Given the description of an element on the screen output the (x, y) to click on. 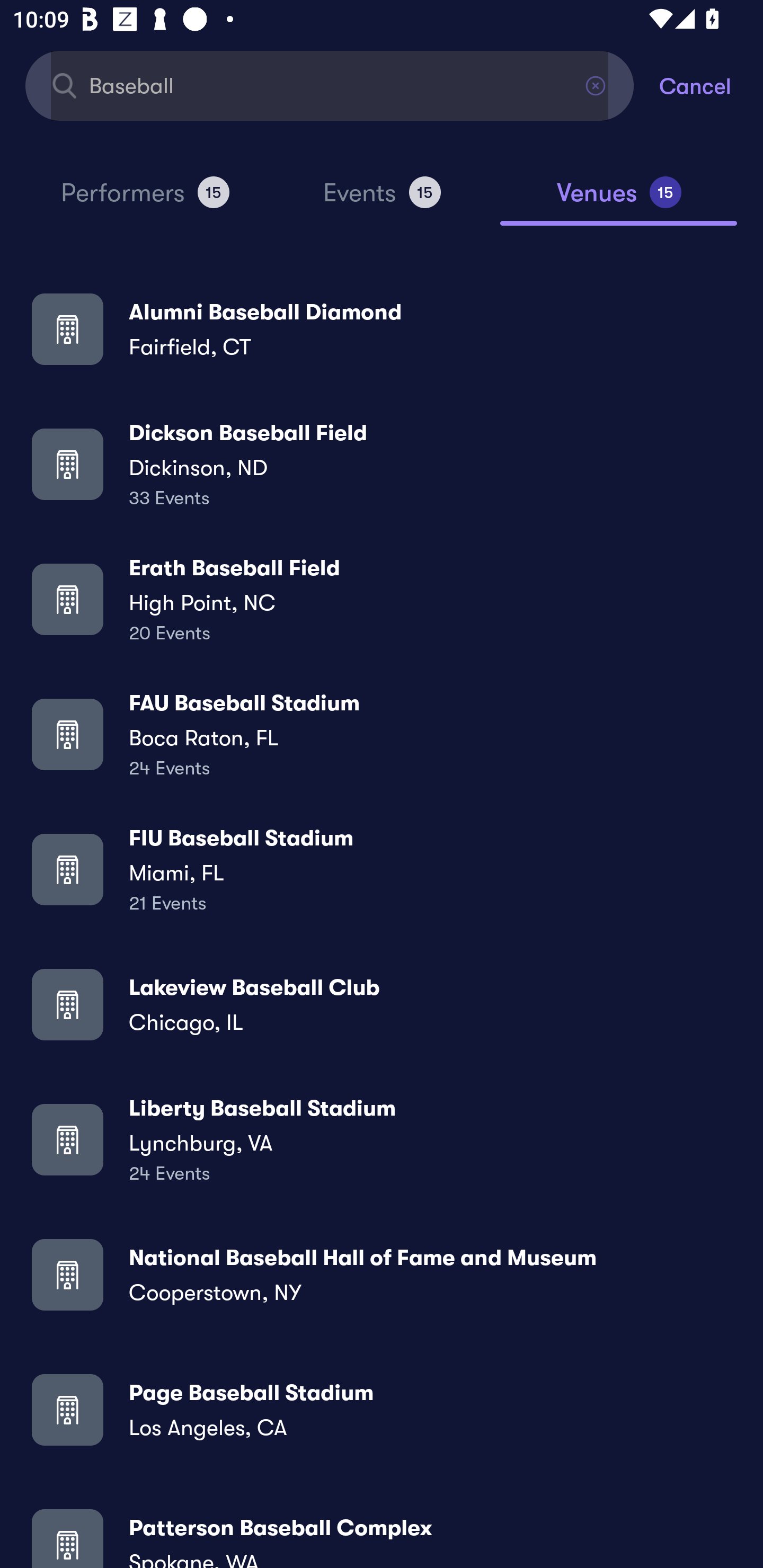
Baseball Find (329, 85)
Baseball Find (329, 85)
Cancel (711, 85)
Performers 15 (144, 200)
Events 15 (381, 200)
Venues 15 (618, 200)
Alumni Baseball Diamond Fairfield, CT (381, 328)
Dickson Baseball Field Dickinson, ND 33 Events (381, 464)
Erath Baseball Field High Point, NC 20 Events (381, 598)
FAU Baseball Stadium Boca Raton, FL 24 Events (381, 734)
FIU Baseball Stadium Miami, FL 21 Events (381, 869)
Lakeview Baseball Club Chicago, IL (381, 1004)
Liberty Baseball Stadium Lynchburg, VA 24 Events (381, 1138)
Page Baseball Stadium Los Angeles, CA (381, 1409)
Patterson Baseball Complex Spokane, WA (381, 1532)
